Given the description of an element on the screen output the (x, y) to click on. 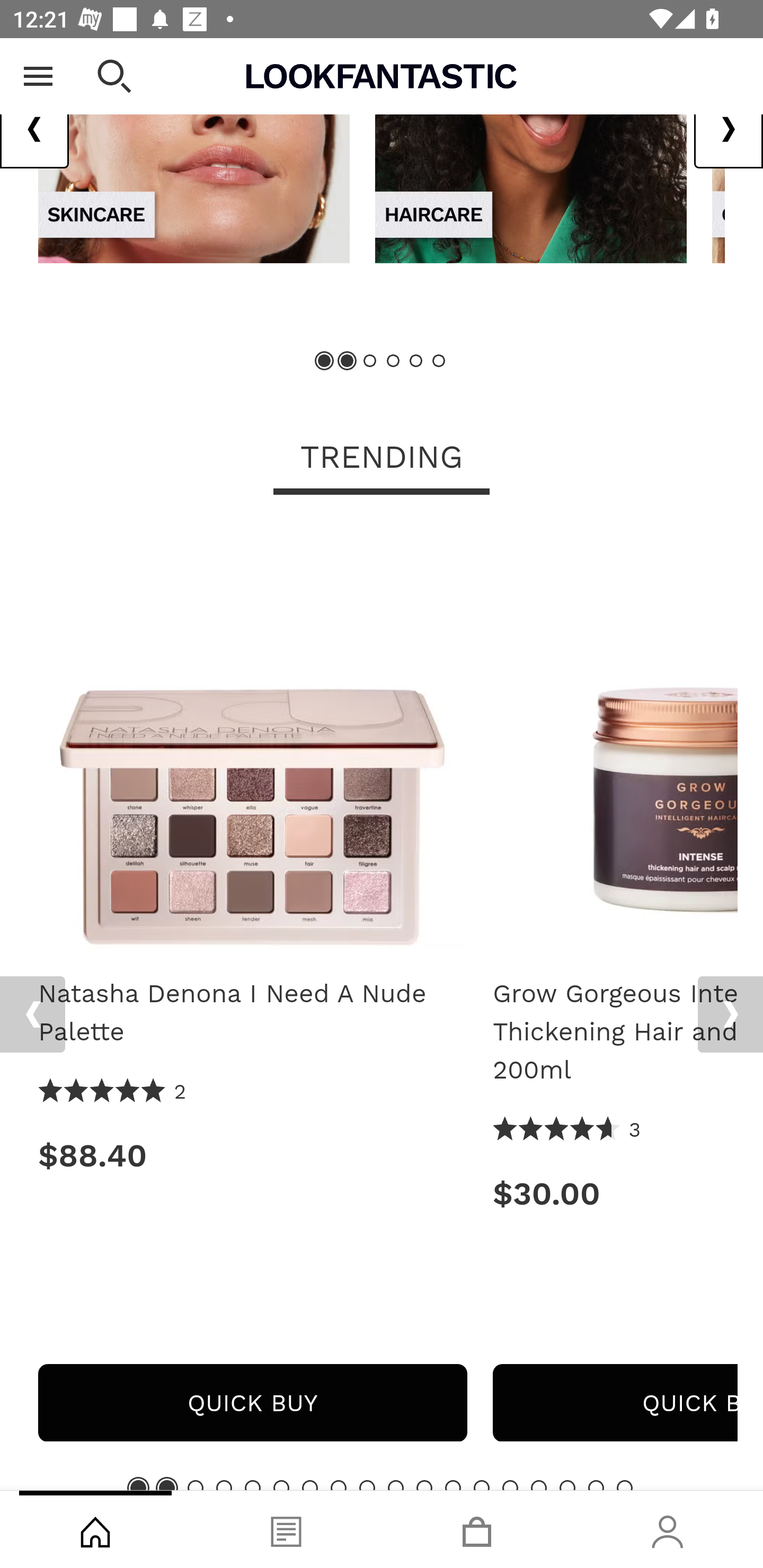
view-all (193, 150)
view-all (530, 150)
Previous (35, 129)
Next (727, 129)
Showing Slide 1 (Current Item) (324, 361)
Showing Slide 2 (Current Item) (347, 361)
Slide 3 (369, 361)
Slide 4 (393, 361)
Slide 5 (415, 361)
Slide 6 (437, 361)
TRENDING (381, 459)
Natasha Denona I Need A Nude Palette (252, 740)
Natasha Denona I Need A Nude Palette (252, 1012)
Previous (32, 1014)
Next (730, 1014)
5.0 Stars 2 Reviews (112, 1091)
4.67 Stars 3 Reviews (567, 1130)
Price: $88.40 (252, 1156)
Price: $30.00 (614, 1193)
QUICK BUY NATASHA DENONA I NEED A NUDE PALETTE (252, 1403)
Showing Slide 1 (Current Item) (138, 1485)
Showing Slide 2 (Current Item) (166, 1485)
Slide 3 (195, 1485)
Slide 4 (223, 1485)
Slide 5 (252, 1485)
Slide 6 (281, 1485)
Slide 7 (310, 1485)
Slide 8 (338, 1485)
Slide 9 (367, 1485)
Slide 10 (395, 1485)
Slide 11 (424, 1485)
Slide 12 (452, 1485)
Slide 13 (481, 1485)
Slide 14 (510, 1485)
Slide 15 (539, 1485)
Slide 16 (567, 1485)
Slide 17 (596, 1485)
Slide 18 (624, 1485)
Shop, tab, 1 of 4 (95, 1529)
Blog, tab, 2 of 4 (285, 1529)
Basket, tab, 3 of 4 (476, 1529)
Account, tab, 4 of 4 (667, 1529)
